Given the description of an element on the screen output the (x, y) to click on. 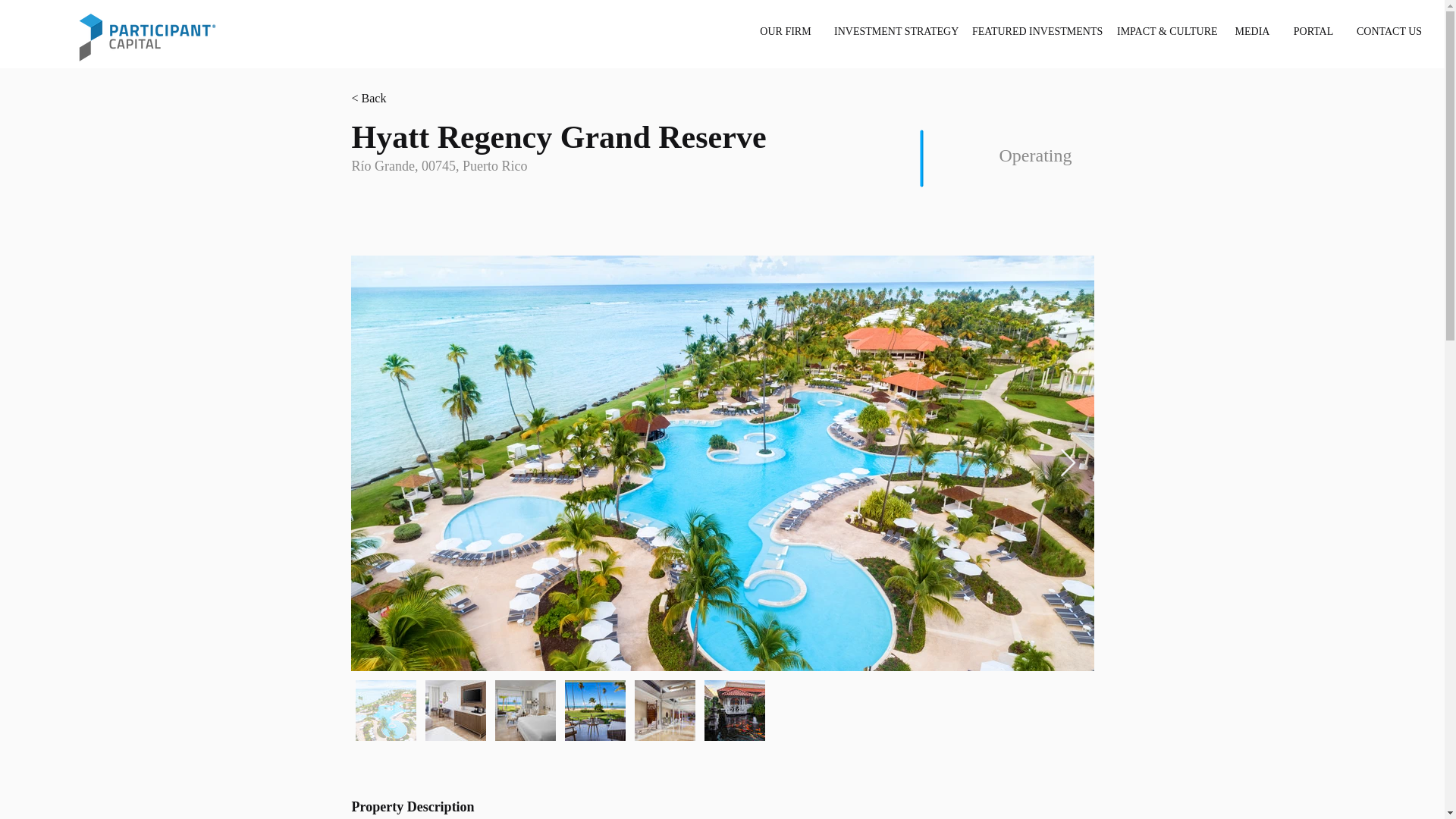
CONTACT US (1387, 31)
FEATURED INVESTMENTS (1032, 31)
INVESTMENT STRATEGY (891, 31)
